Given the description of an element on the screen output the (x, y) to click on. 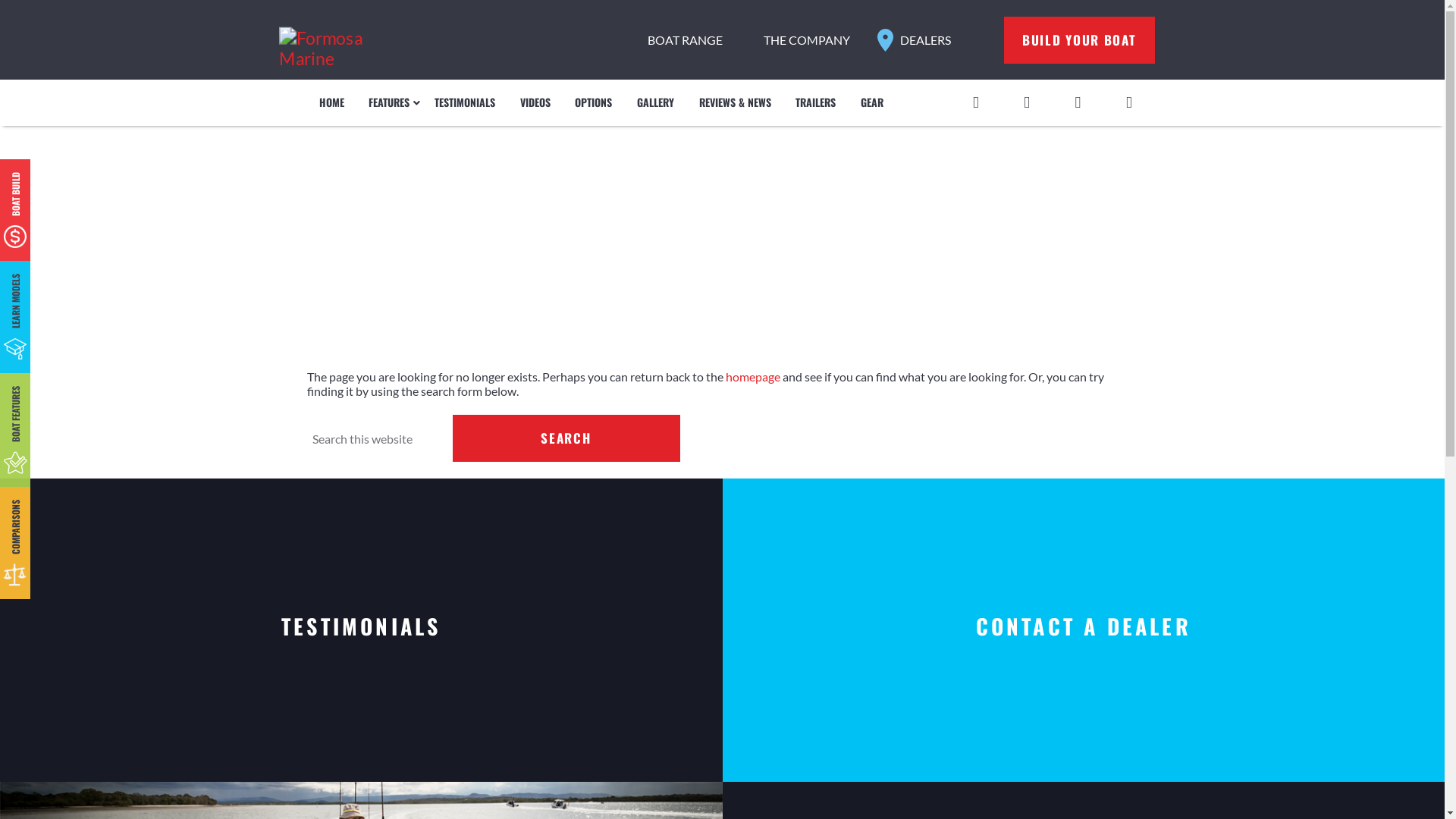
Youtube Element type: hover (1077, 100)
COMPARISONS Element type: text (44, 513)
Skip to primary navigation Element type: text (0, 0)
GALLERY Element type: text (655, 102)
BOAT FEATURES Element type: text (45, 399)
Facebook Element type: hover (975, 100)
homepage Element type: text (751, 376)
OPTIONS Element type: text (593, 102)
LEARN MODELS Element type: text (44, 287)
DEALERS Element type: text (925, 39)
BOAT BUILD Element type: text (39, 185)
TESTIMONIALS Element type: text (465, 102)
GEAR Element type: text (871, 102)
TESTIMONIALS Element type: text (361, 629)
TRAILERS Element type: text (815, 102)
HOME Element type: text (331, 102)
Instagram Element type: hover (1128, 100)
Search Element type: text (565, 437)
FEATURES Element type: text (389, 102)
REVIEWS & NEWS Element type: text (734, 102)
BOAT RANGE Element type: text (684, 39)
Formosa Marine Element type: hover (323, 41)
CONTACT A DEALER Element type: text (1082, 629)
Twitter Element type: hover (1027, 100)
VIDEOS Element type: text (534, 102)
BUILD YOUR BOAT Element type: text (1079, 39)
THE COMPANY Element type: text (806, 39)
